Given the description of an element on the screen output the (x, y) to click on. 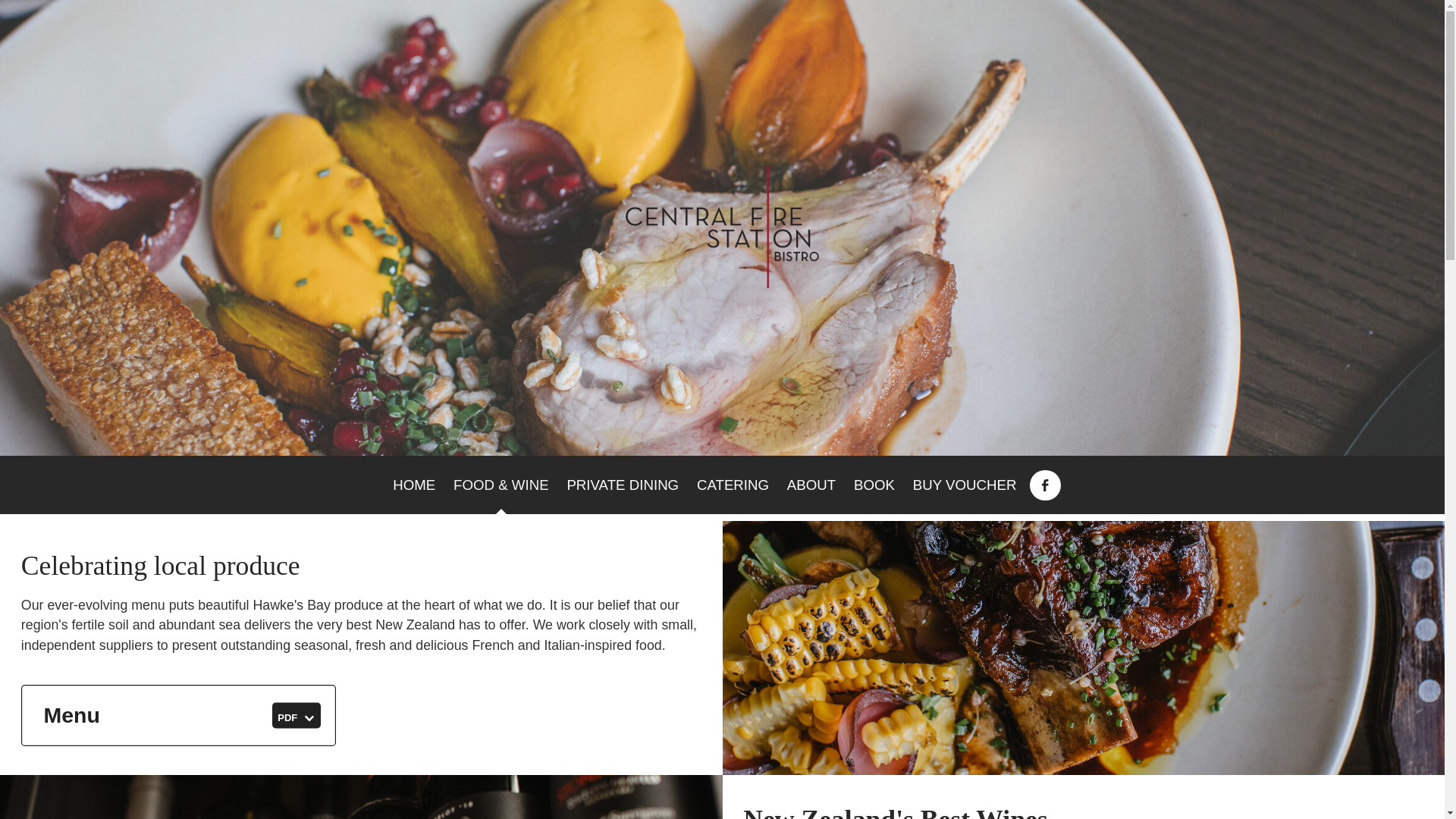
BOOK (874, 484)
ABOUT (810, 484)
A link to this website's Facebook. (1044, 485)
PRIVATE DINING (622, 484)
BUY VOUCHER (964, 484)
HOME (178, 715)
CATERING (414, 484)
